Given the description of an element on the screen output the (x, y) to click on. 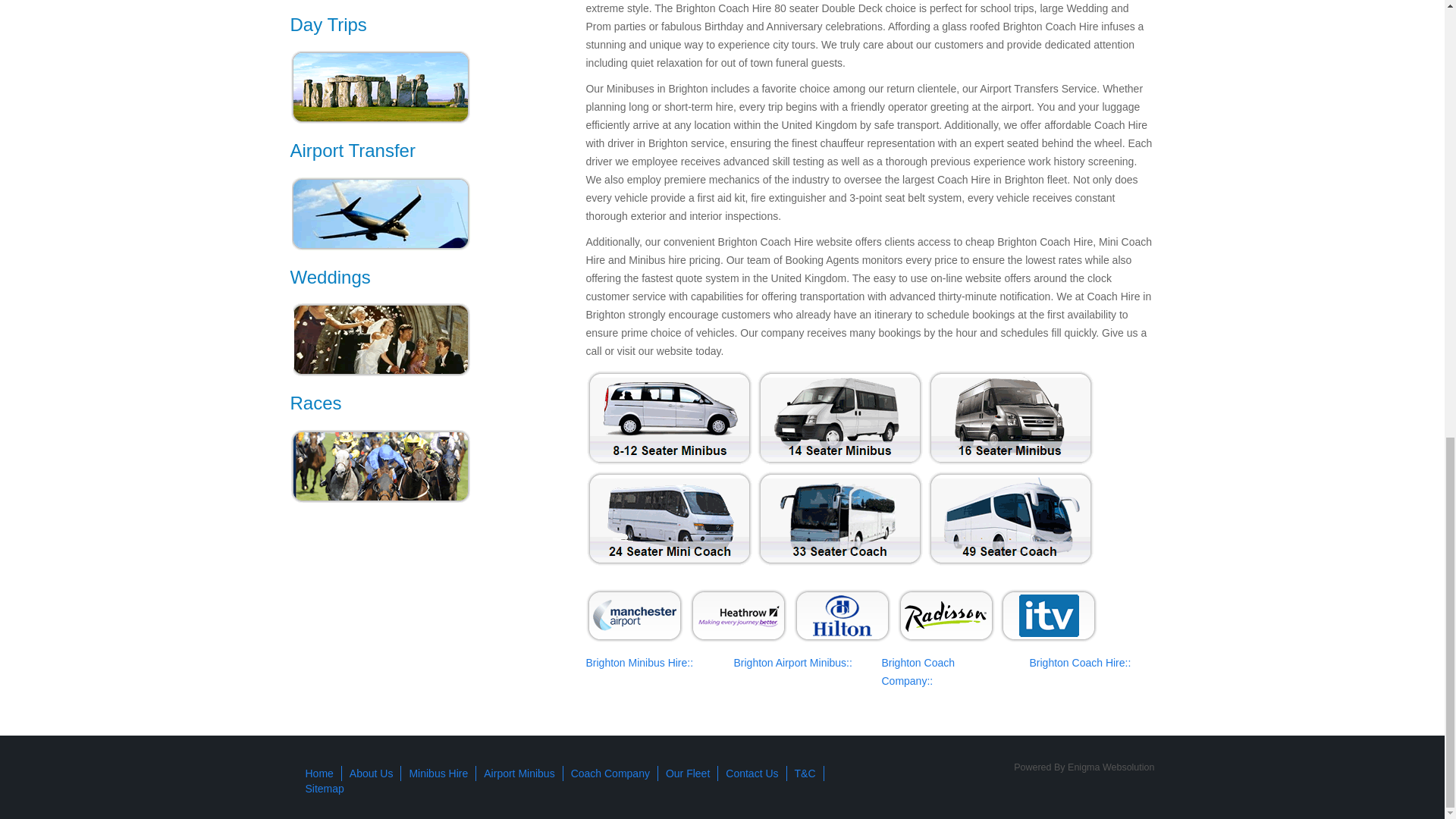
Home (318, 773)
Brighton Coach Hire:: (1080, 662)
Minibus Hire (438, 773)
Coach Hire Brighton (639, 662)
About Us (371, 773)
Coach Company (609, 773)
Our Fleet (687, 773)
Coach Hire Brighton (1080, 662)
Sitemap (323, 788)
Coach Hire Brighton (917, 671)
